Given the description of an element on the screen output the (x, y) to click on. 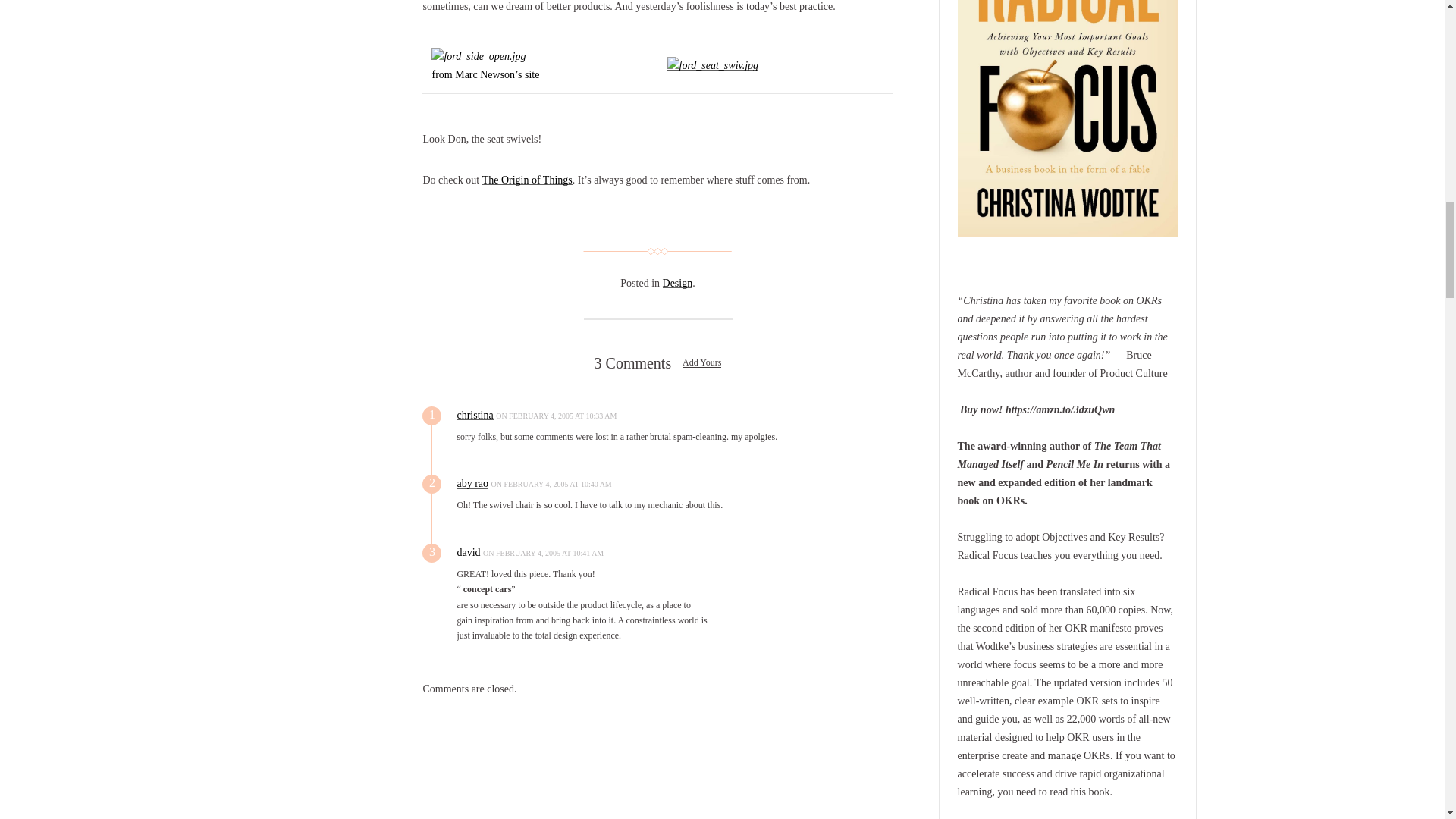
Design (677, 283)
Add Yours (701, 362)
The Origin of Things (526, 179)
